Given the description of an element on the screen output the (x, y) to click on. 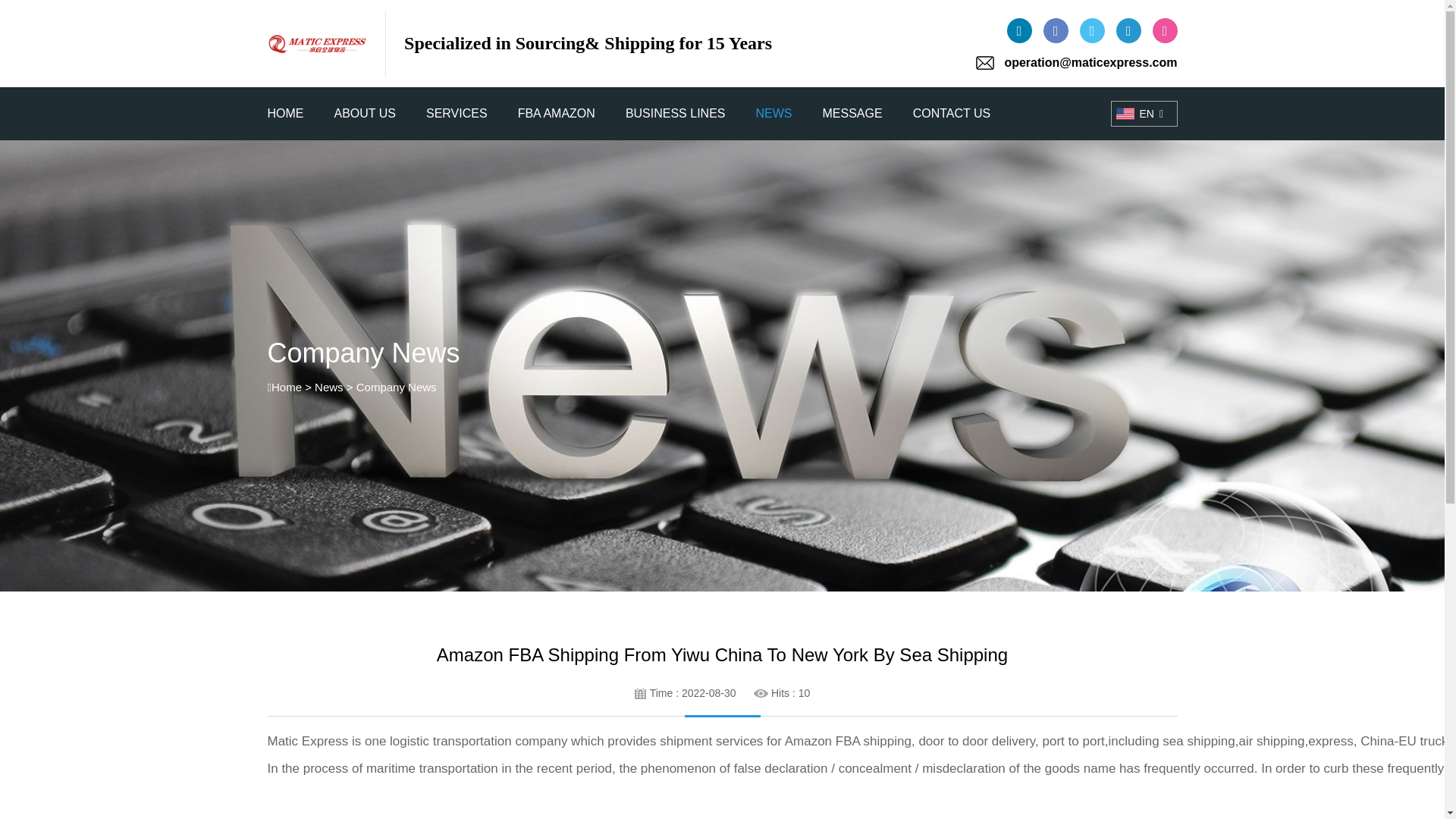
ABOUT US (364, 113)
HOME (284, 113)
